Given the description of an element on the screen output the (x, y) to click on. 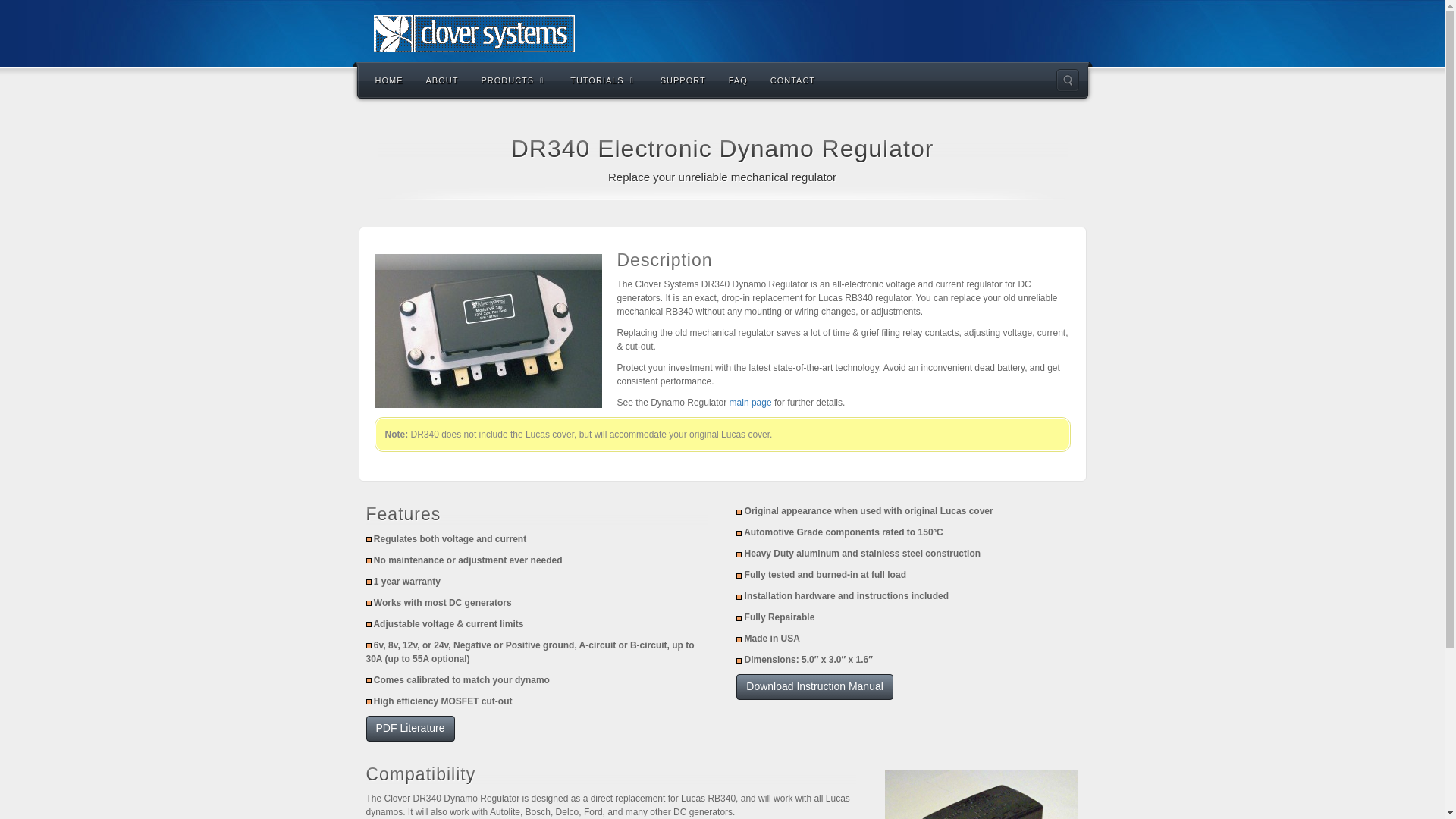
Search the site... (1066, 79)
PDF Literature (409, 728)
Dynamo Regulator (750, 402)
TUTORIALS (604, 79)
main page (750, 402)
PRODUCTS (513, 79)
PDF Literature (409, 728)
SUPPORT (683, 79)
HOME (389, 79)
Download Instruction Manual (814, 687)
Download Instruction Manual (814, 687)
Search the site... (1066, 79)
FAQ (737, 79)
ABOUT (440, 79)
CONTACT (792, 79)
